Given the description of an element on the screen output the (x, y) to click on. 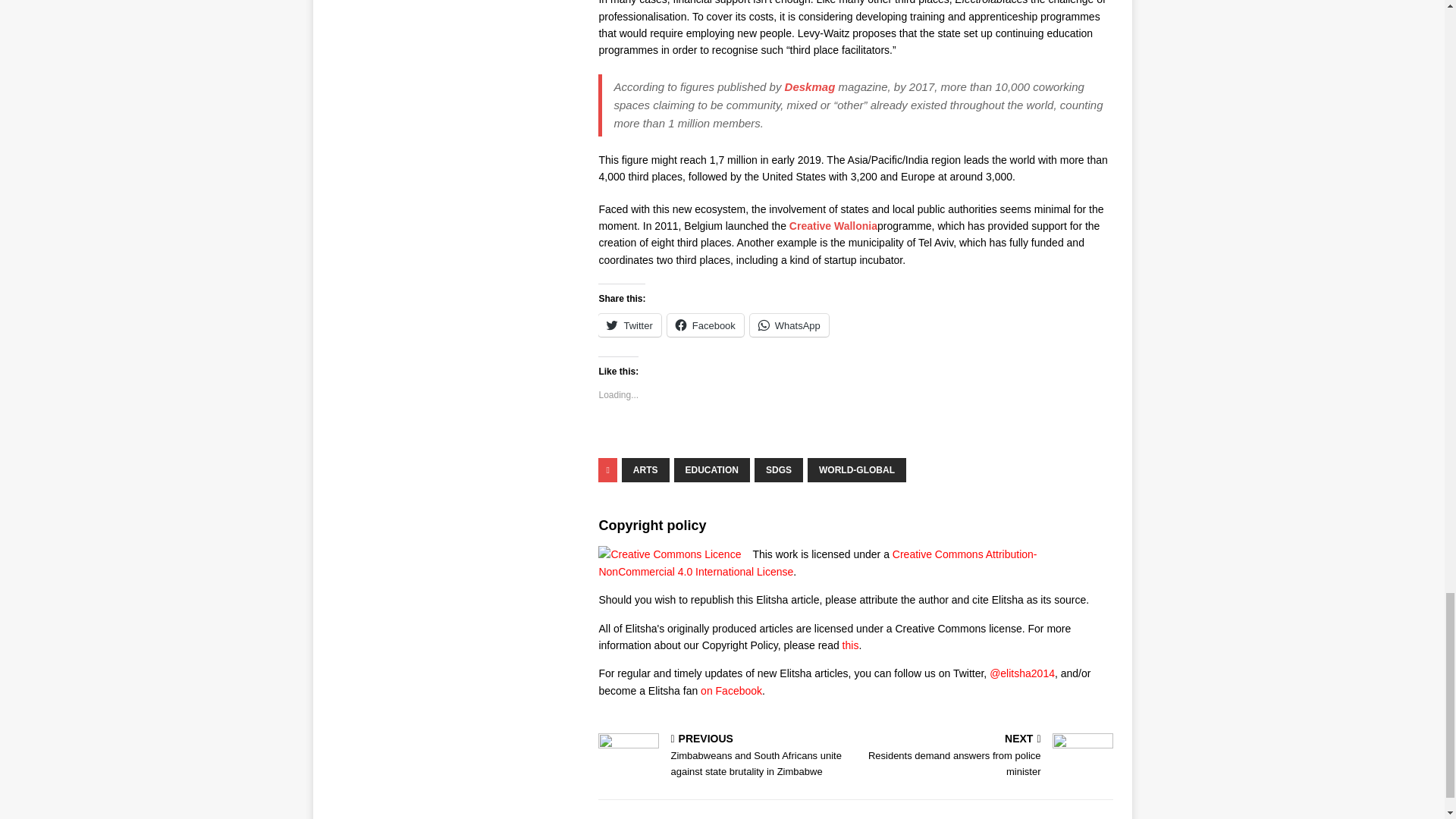
Click to share on WhatsApp (788, 324)
Click to share on Twitter (629, 324)
Twitter (629, 324)
Facebook (705, 324)
on Facebook (730, 690)
ARTS (645, 469)
this (851, 645)
Deskmag (809, 86)
WORLD-GLOBAL (856, 469)
